Given the description of an element on the screen output the (x, y) to click on. 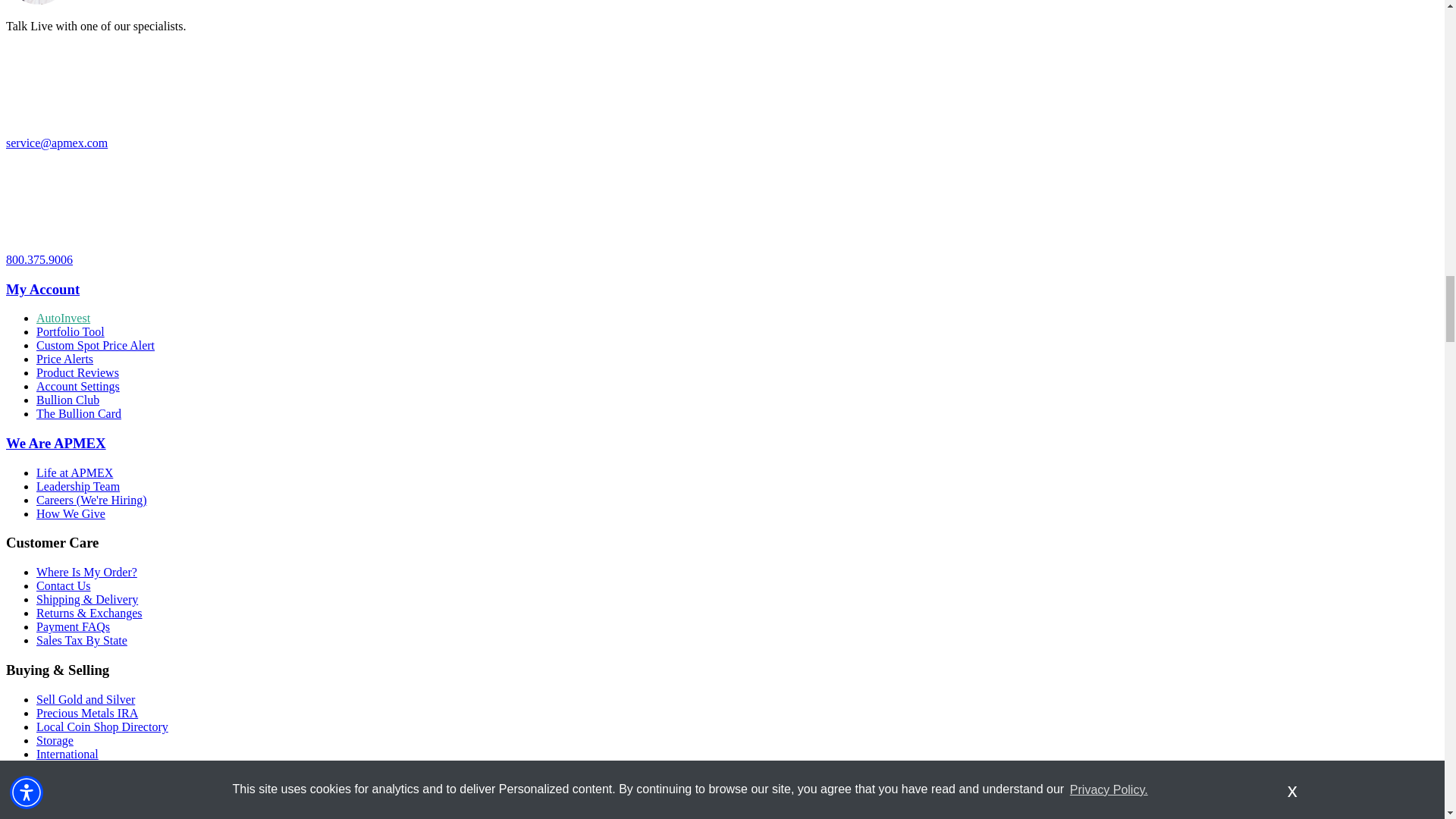
Live Chat (37, 3)
My Account (42, 289)
